Given the description of an element on the screen output the (x, y) to click on. 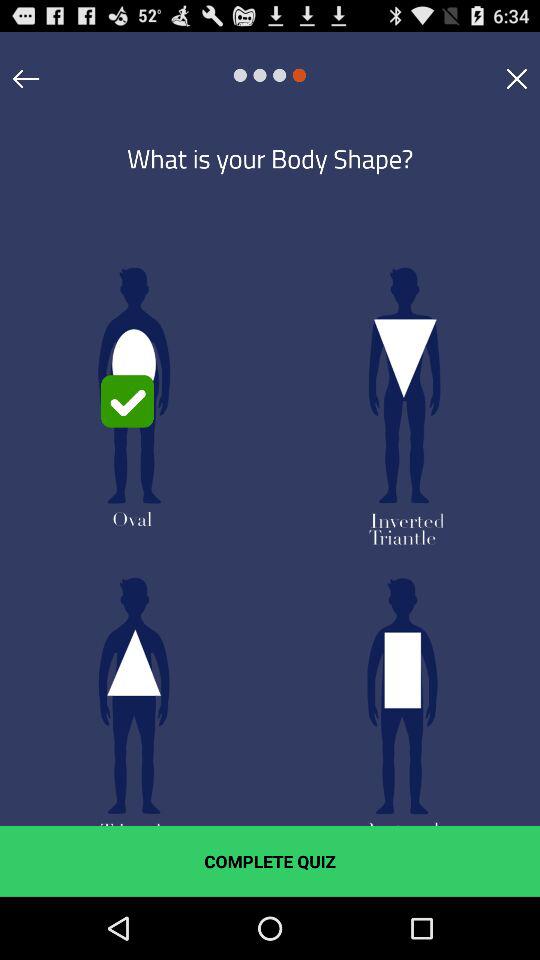
press item at the top right corner (516, 78)
